Given the description of an element on the screen output the (x, y) to click on. 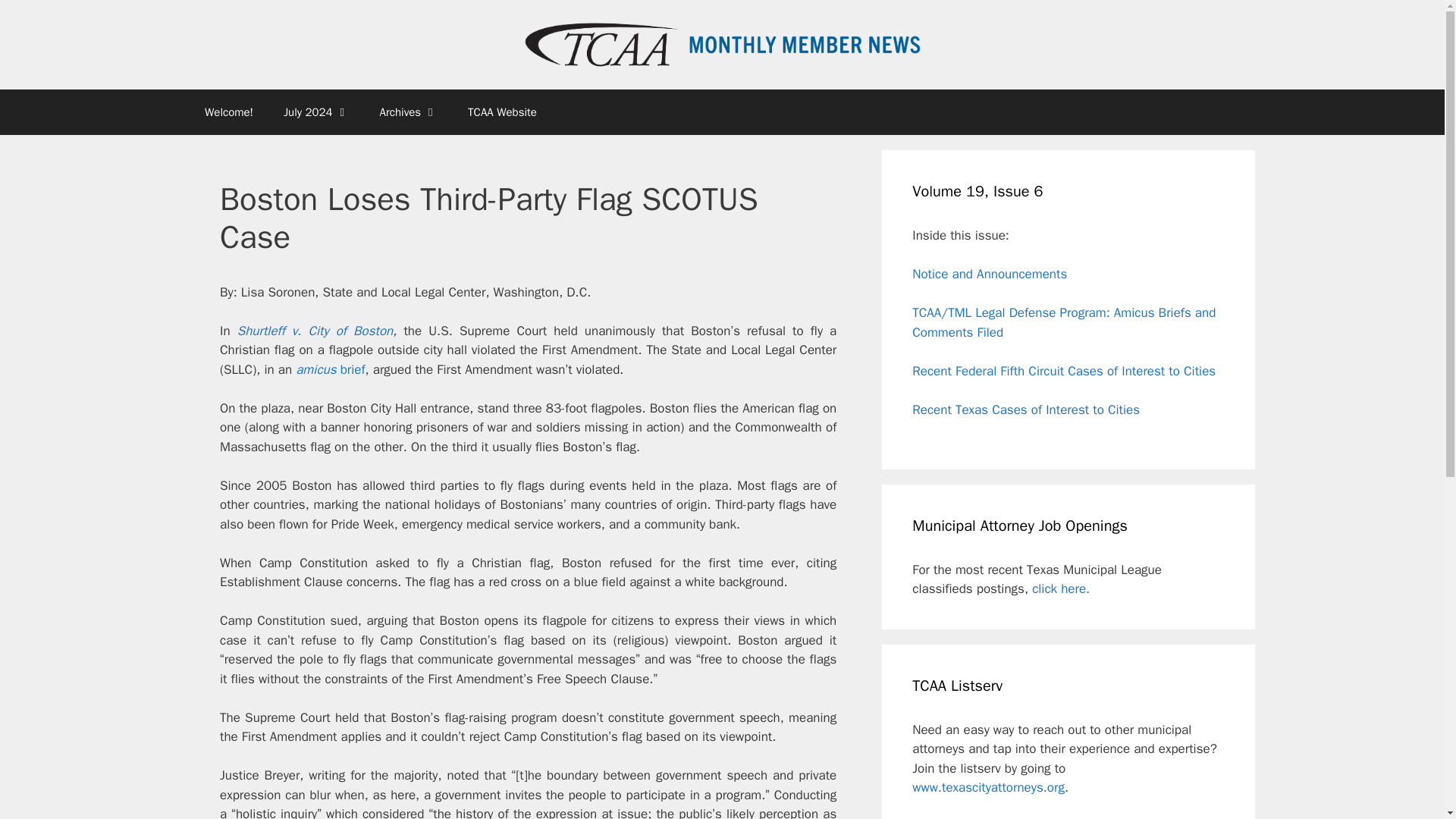
July 2024 (315, 112)
Shurtleff v. City of Boston (315, 330)
Welcome! (228, 112)
Archives (408, 112)
Recent Texas Cases of Interest to Cities (1026, 409)
am (304, 369)
cus brief (340, 369)
Notice and Announcements (989, 273)
TCAA Website (501, 112)
Recent Federal Fifth Circuit Cases of Interest to Cities (1063, 371)
